Given the description of an element on the screen output the (x, y) to click on. 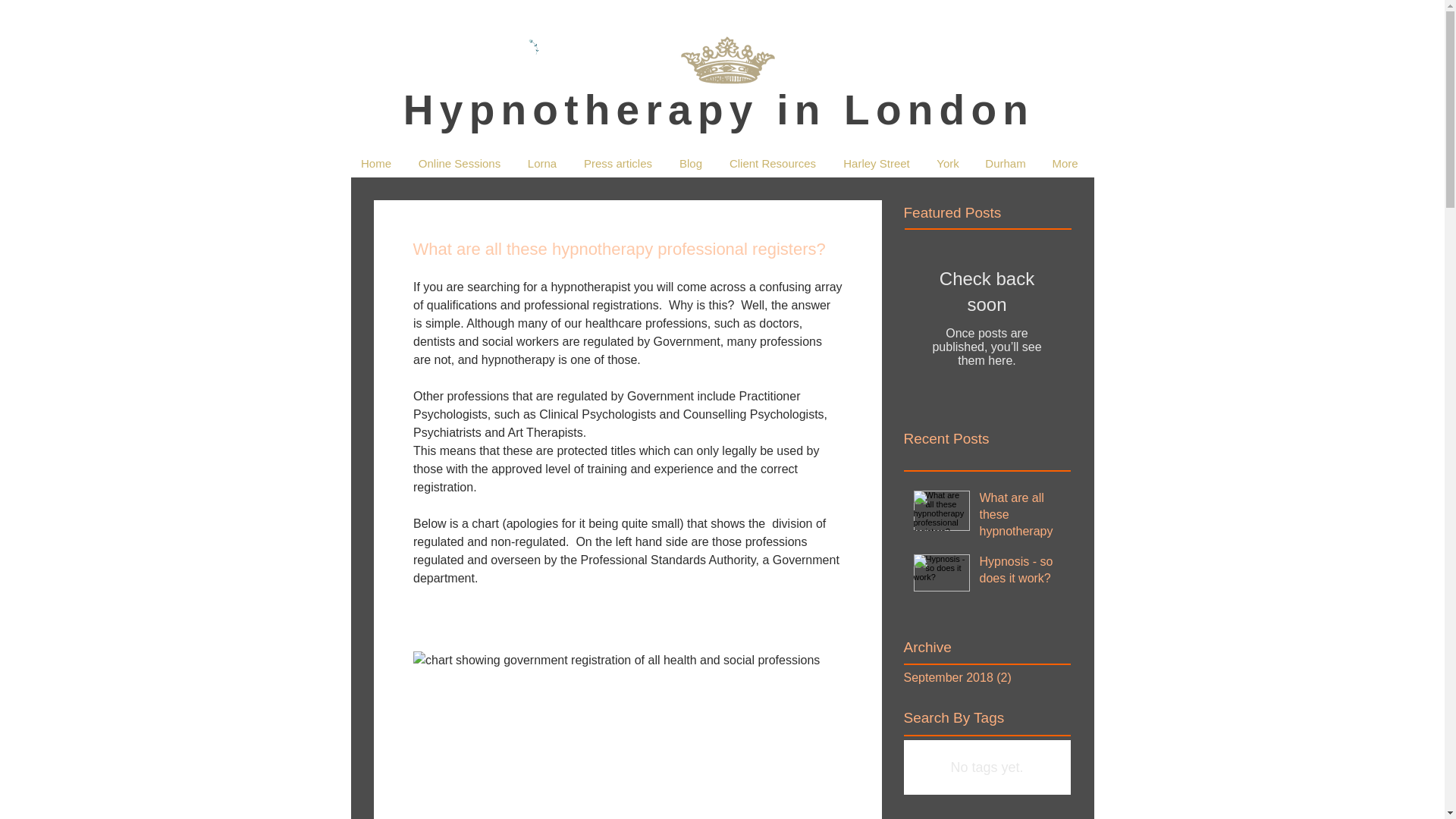
Hypnosis - so does it work? (1020, 573)
ondon (954, 109)
Durham (1005, 163)
Lorna (541, 163)
What are all these hypnotherapy professional registers? (1020, 534)
Hypnotherapy in L (639, 109)
Blog (690, 163)
Press articles (617, 163)
Home (375, 163)
Client Resources (772, 163)
